Given the description of an element on the screen output the (x, y) to click on. 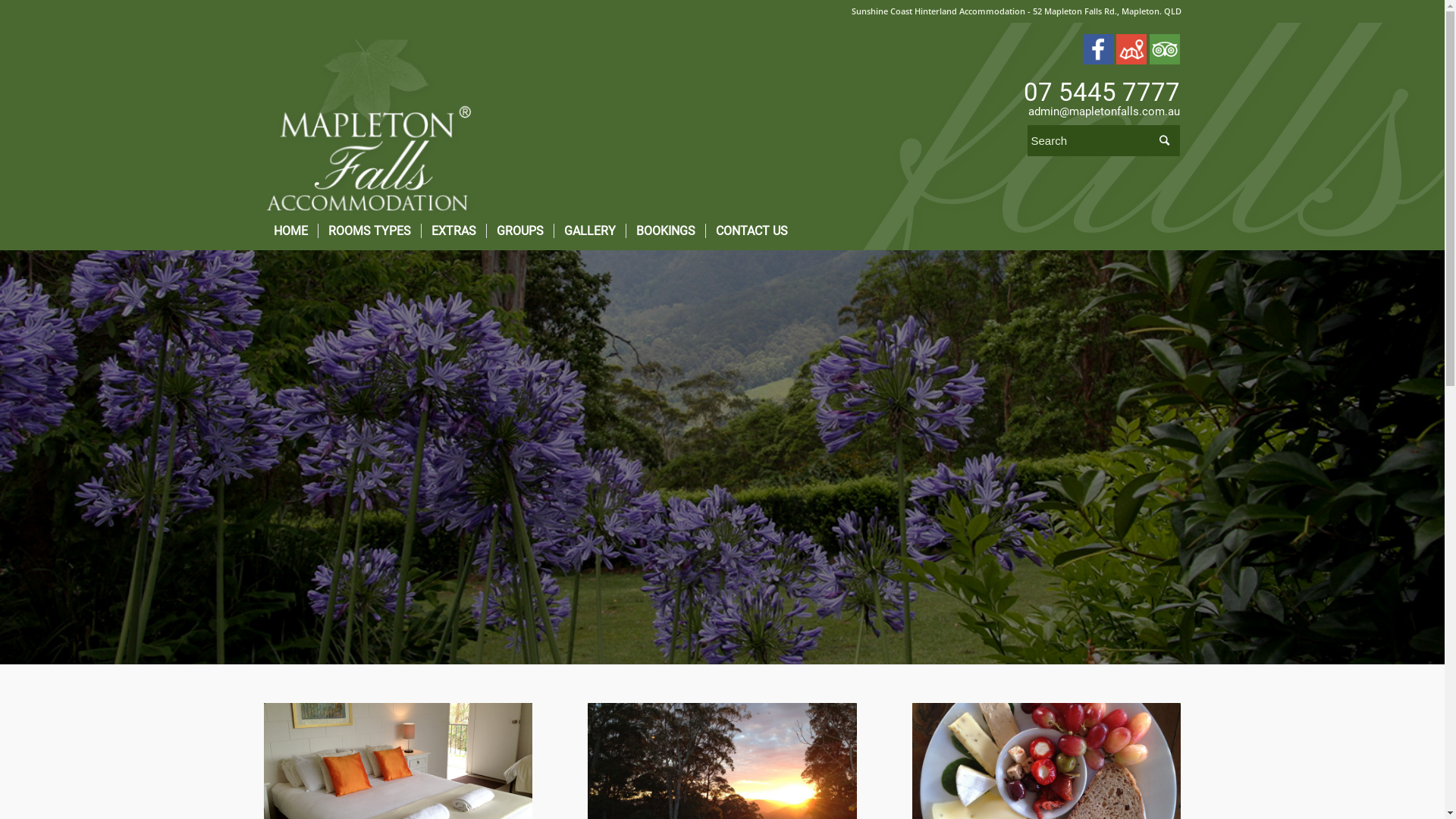
HOME Element type: text (290, 231)
EXTRAS Element type: text (452, 231)
5 Element type: hover (722, 457)
BOOKINGS Element type: text (664, 231)
CONTACT US Element type: text (751, 231)
GROUPS Element type: text (518, 231)
GALLERY Element type: text (589, 231)
ROOMS TYPES Element type: text (368, 231)
